Given the description of an element on the screen output the (x, y) to click on. 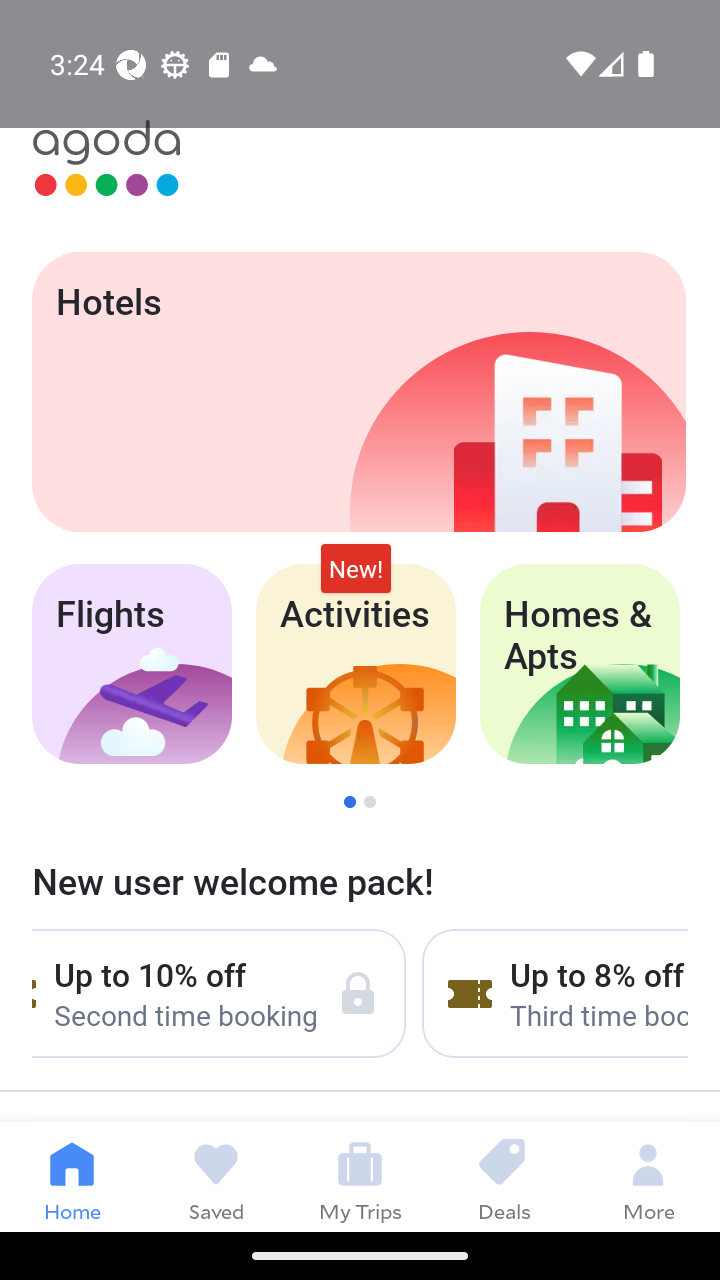
Hotels (358, 392)
New! (355, 568)
Flights (131, 664)
Activities (355, 664)
Homes & Apts (579, 664)
Home (72, 1176)
Saved (216, 1176)
My Trips (360, 1176)
Deals (504, 1176)
More (648, 1176)
